Given the description of an element on the screen output the (x, y) to click on. 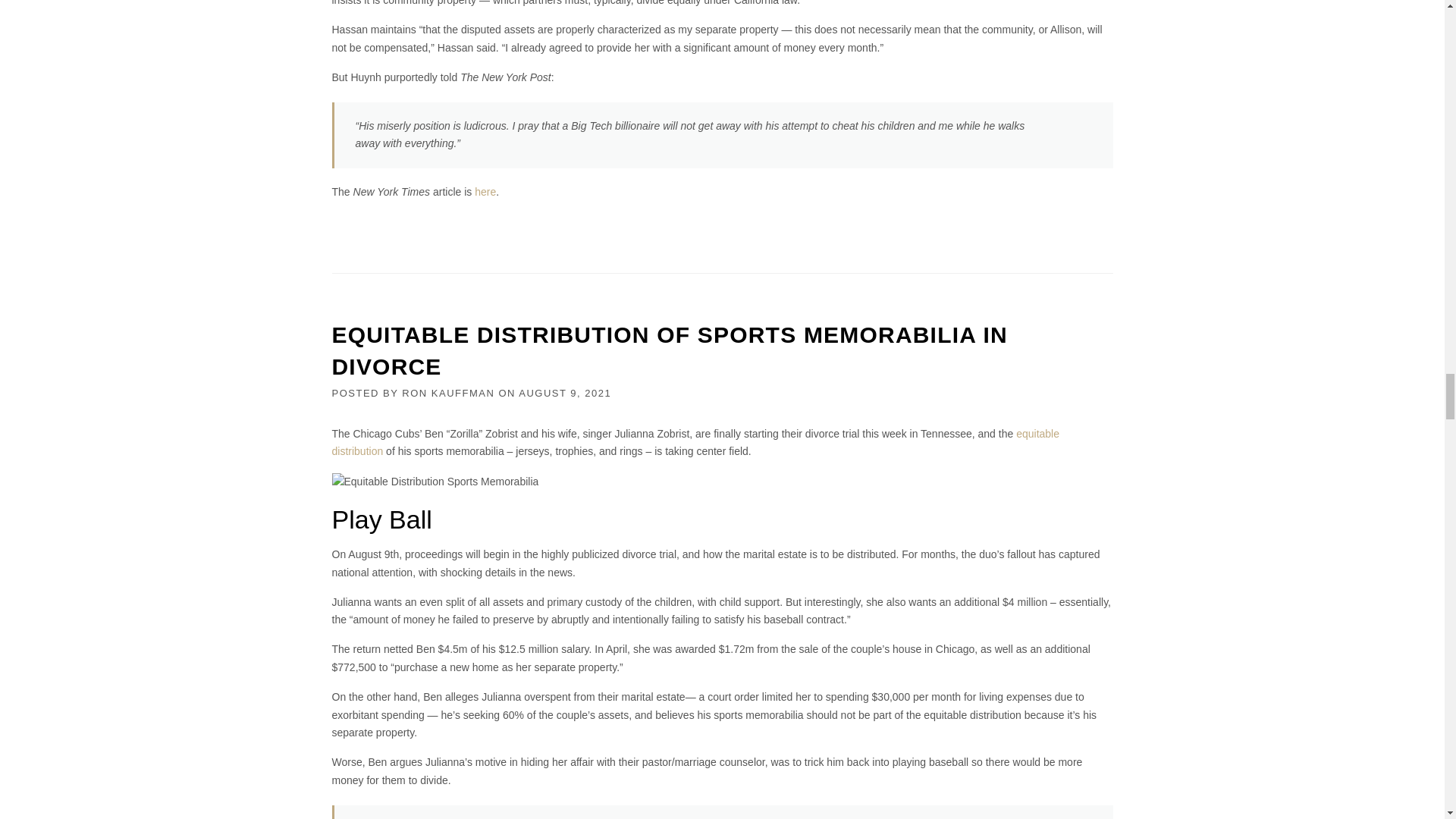
Equitable Distribution Sports Memorabilia (434, 482)
